Given the description of an element on the screen output the (x, y) to click on. 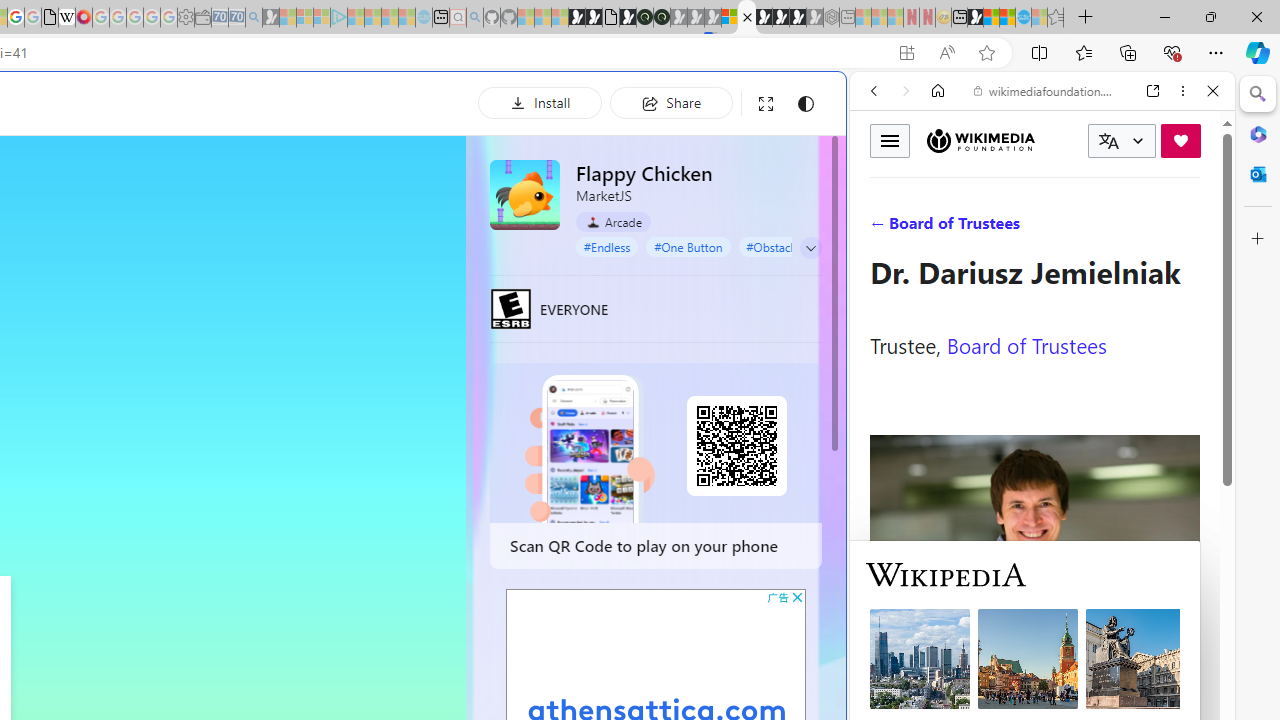
Search Filter, Search Tools (1093, 228)
Bing Real Estate - Home sales and rental listings - Sleeping (253, 17)
Share (671, 102)
